Given the description of an element on the screen output the (x, y) to click on. 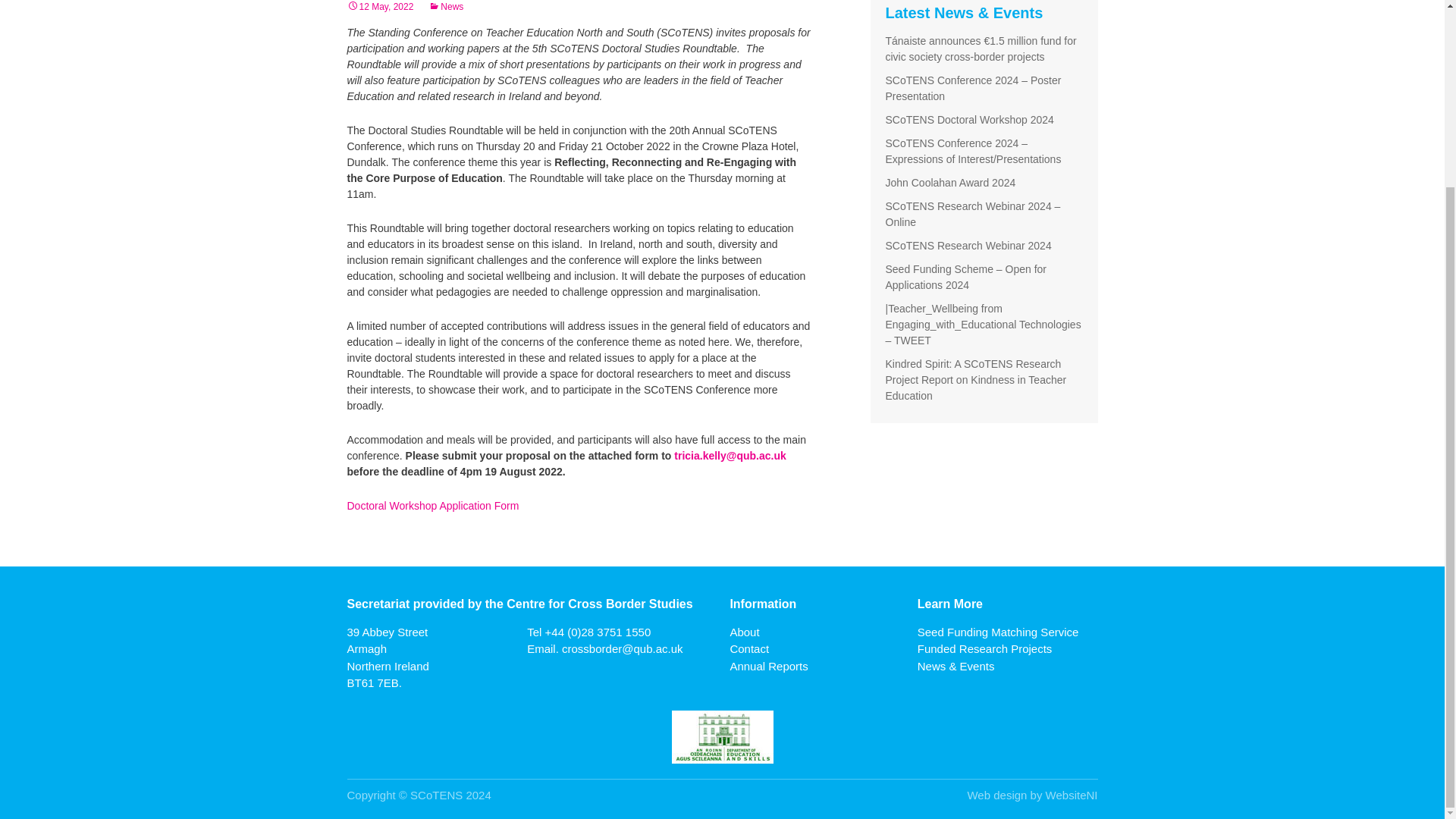
SCoTENS Doctoral Workshop 2024 (969, 119)
12 May, 2022 (380, 6)
John Coolahan Award 2024 (950, 182)
Doctoral Workshop Application Form (433, 505)
SCoTENS Doctoral Workshop 2024 (969, 119)
News (445, 6)
SCoTENS Research Webinar 2024 (968, 245)
Contact (748, 648)
About (743, 631)
Seed Funding Matching Service (997, 631)
SCoTENS Research Webinar 2024 (968, 245)
Annual Reports (768, 666)
John Coolahan Award 2024 (950, 182)
